Given the description of an element on the screen output the (x, y) to click on. 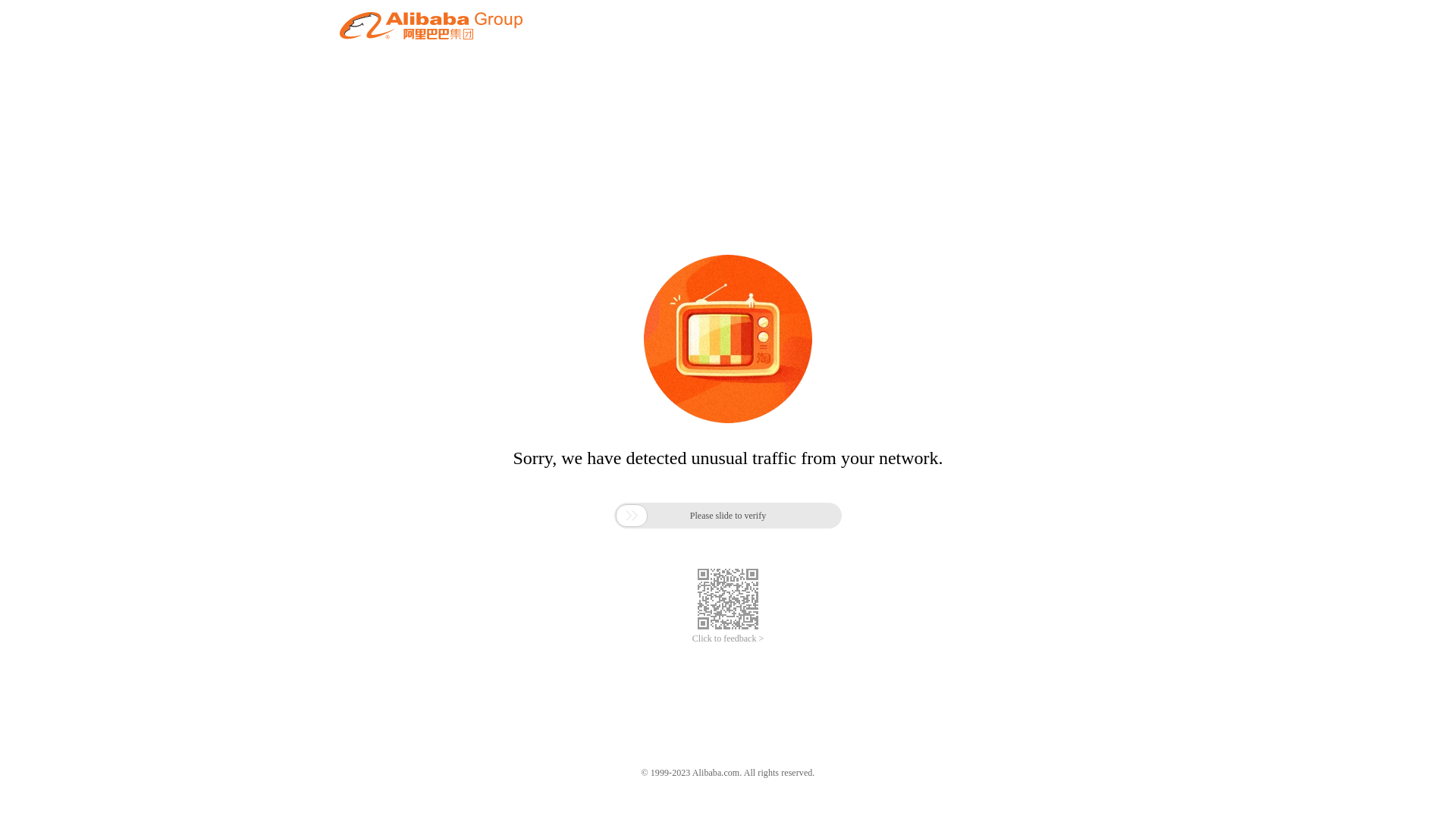
Click to feedback > Element type: text (727, 638)
